Given the description of an element on the screen output the (x, y) to click on. 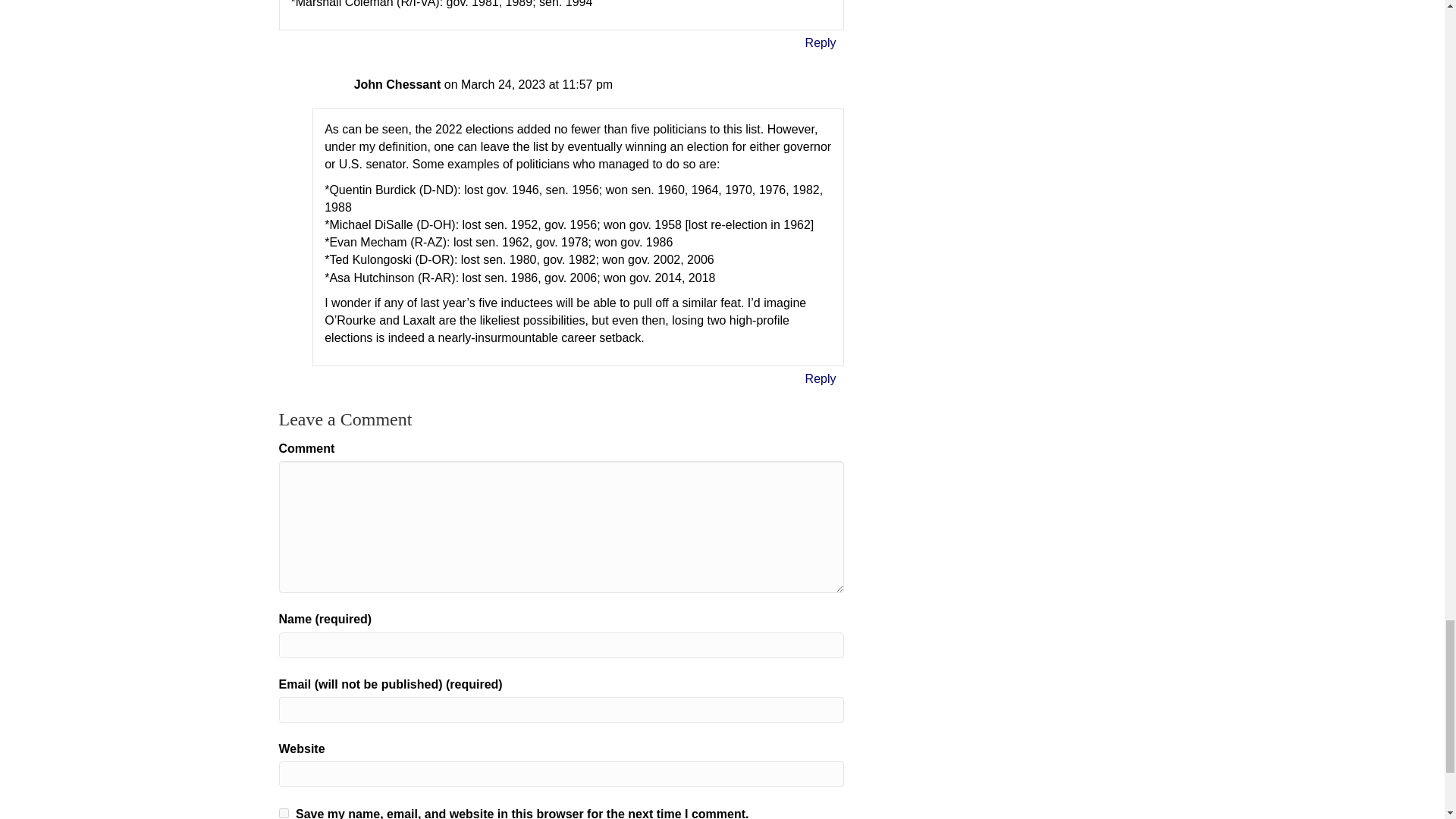
yes (283, 813)
